Given the description of an element on the screen output the (x, y) to click on. 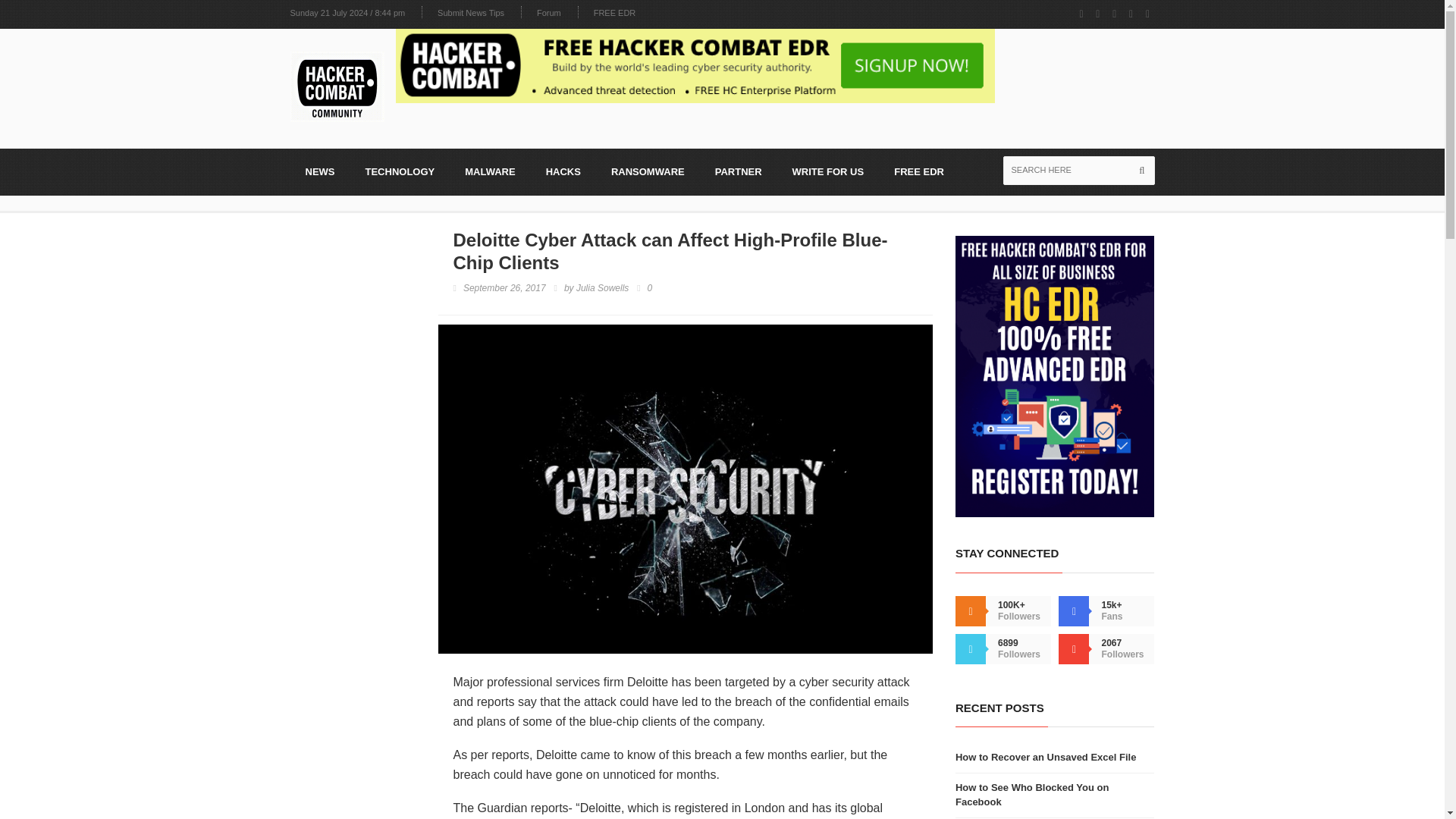
Partner (738, 171)
NEWS (319, 171)
cyber security (837, 681)
FREE EDR (919, 171)
PARTNER (738, 171)
TECHNOLOGY (399, 171)
Julia Sowells (602, 287)
MALWARE (489, 171)
Posts by Julia Sowells (602, 287)
Malware (489, 171)
FREE EDR (919, 171)
0 (644, 287)
Write For Us (828, 171)
News (319, 171)
Ransomware (647, 171)
